Given the description of an element on the screen output the (x, y) to click on. 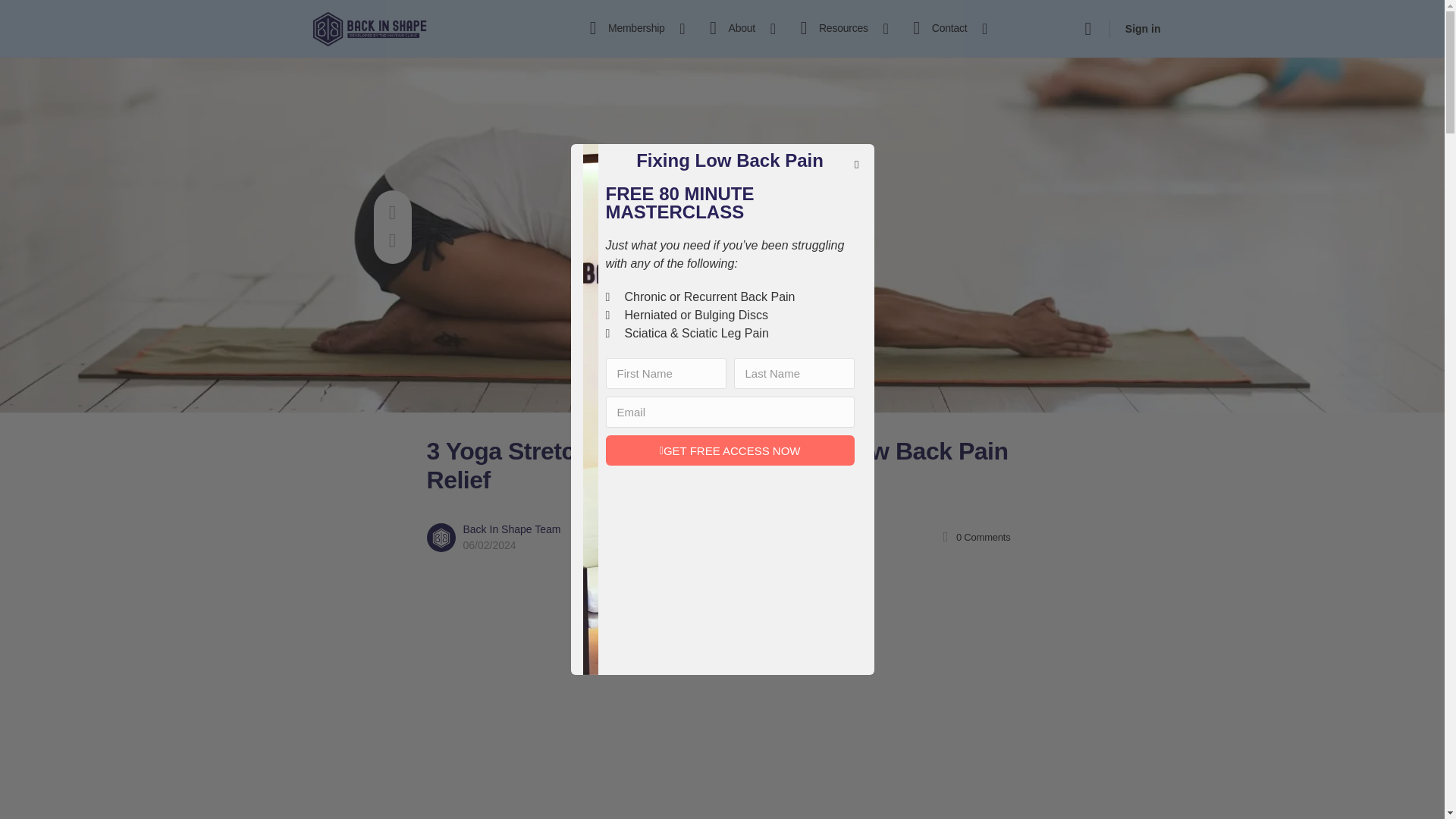
Membership (630, 28)
About (736, 28)
Resources (837, 28)
Contact (943, 28)
Sign in (1143, 28)
